Given the description of an element on the screen output the (x, y) to click on. 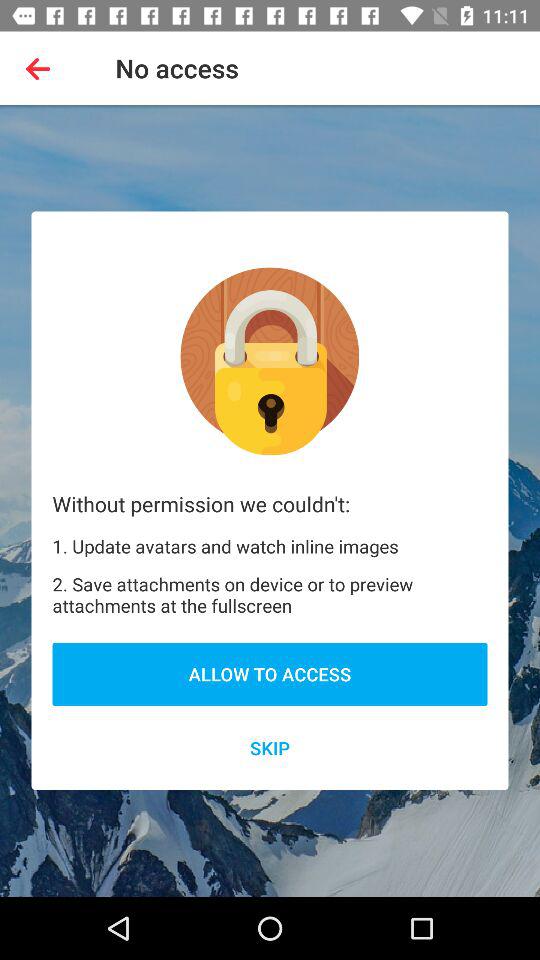
press the app next to no access item (41, 68)
